Given the description of an element on the screen output the (x, y) to click on. 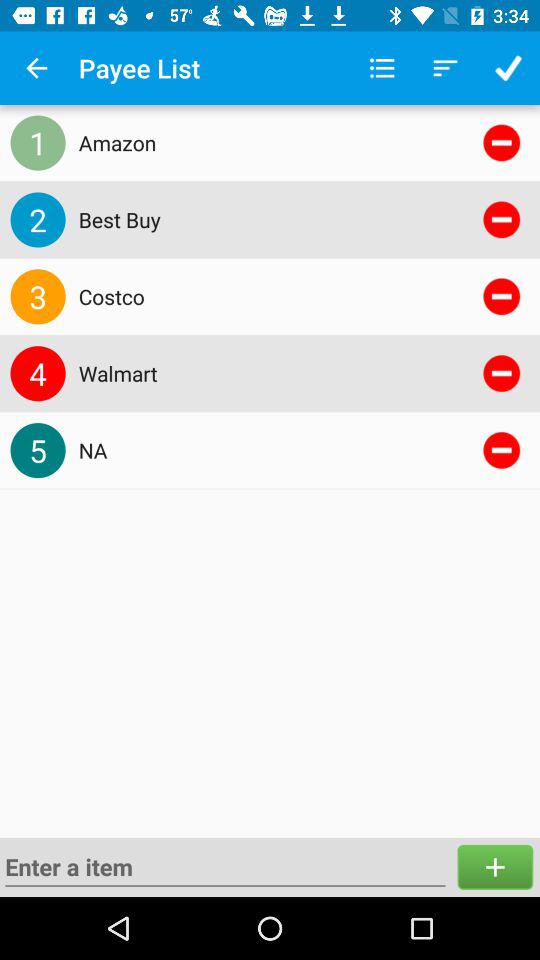
click on minus symbol which is next to walmart (501, 373)
select the button which is top right corner of page (508, 68)
click on the symbol whch is right hand side of the text na (501, 450)
go to right of payee list (382, 68)
